Given the description of an element on the screen output the (x, y) to click on. 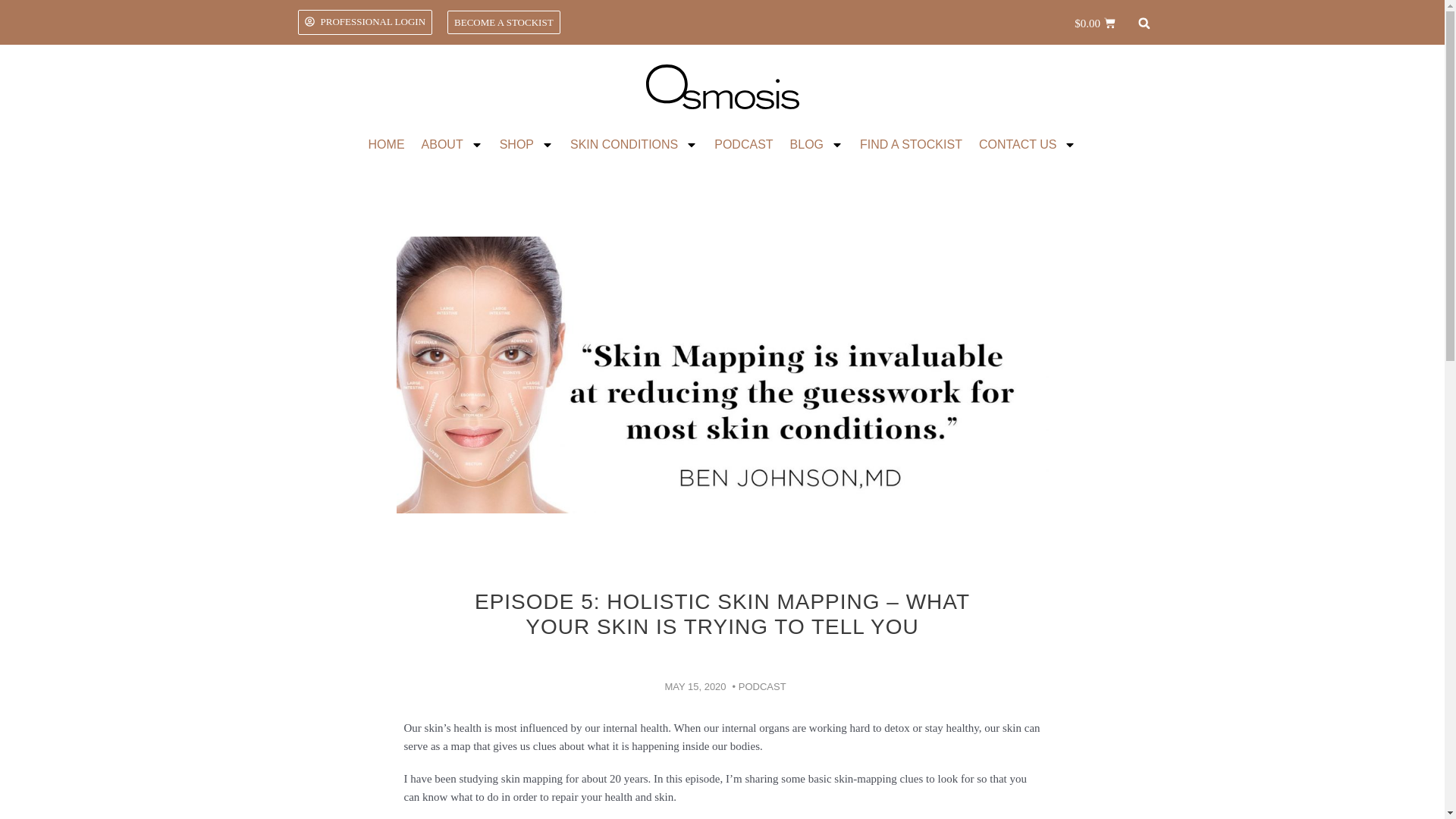
SHOP (527, 144)
ABOUT (452, 144)
BECOME A STOCKIST (503, 22)
SKIN CONDITIONS (634, 144)
PROFESSIONAL LOGIN (364, 22)
HOME (386, 144)
